Given the description of an element on the screen output the (x, y) to click on. 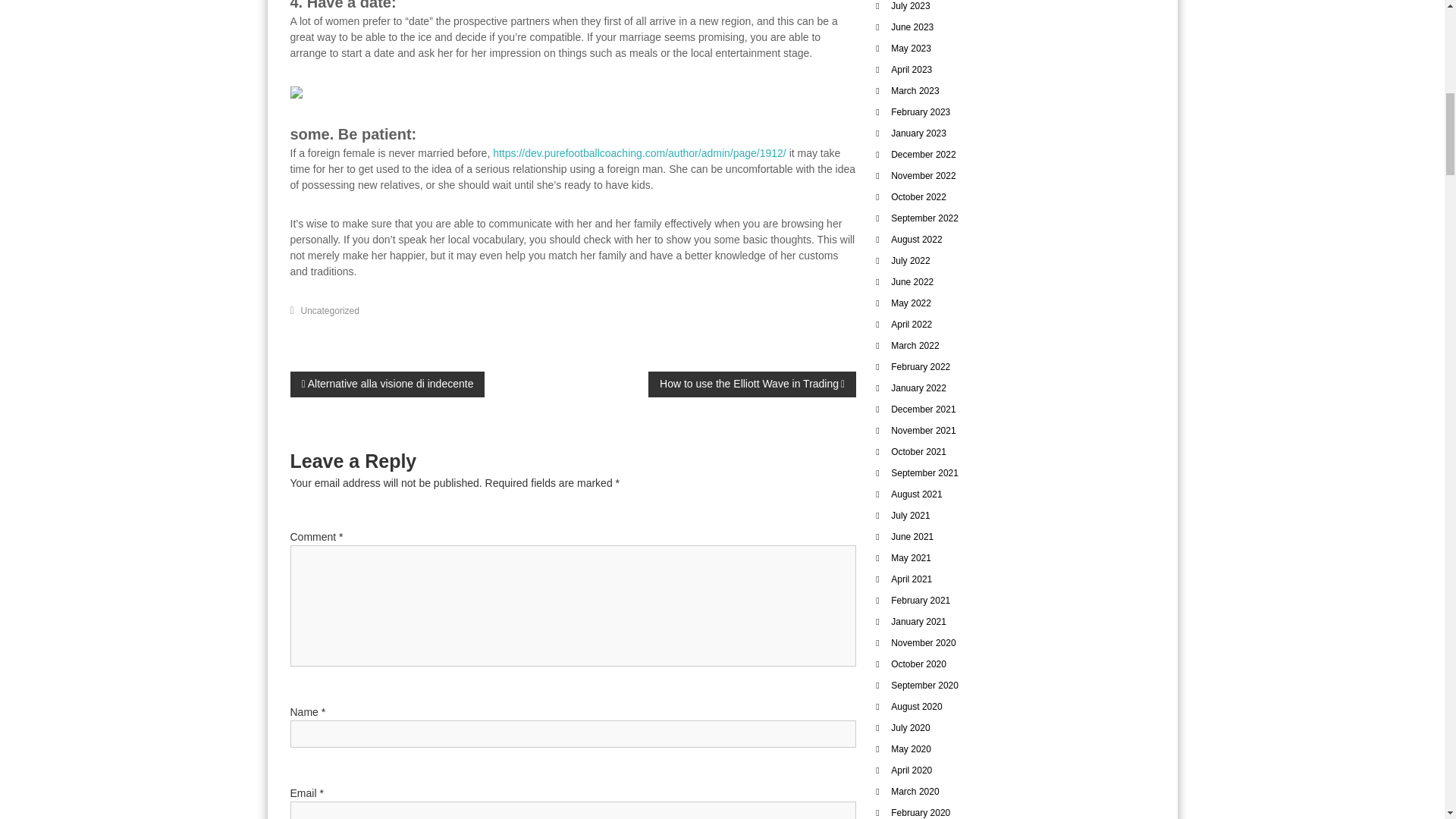
How to use the Elliott Wave in Trading (751, 384)
Uncategorized (330, 309)
Alternative alla visione di indecente (386, 384)
